Given the description of an element on the screen output the (x, y) to click on. 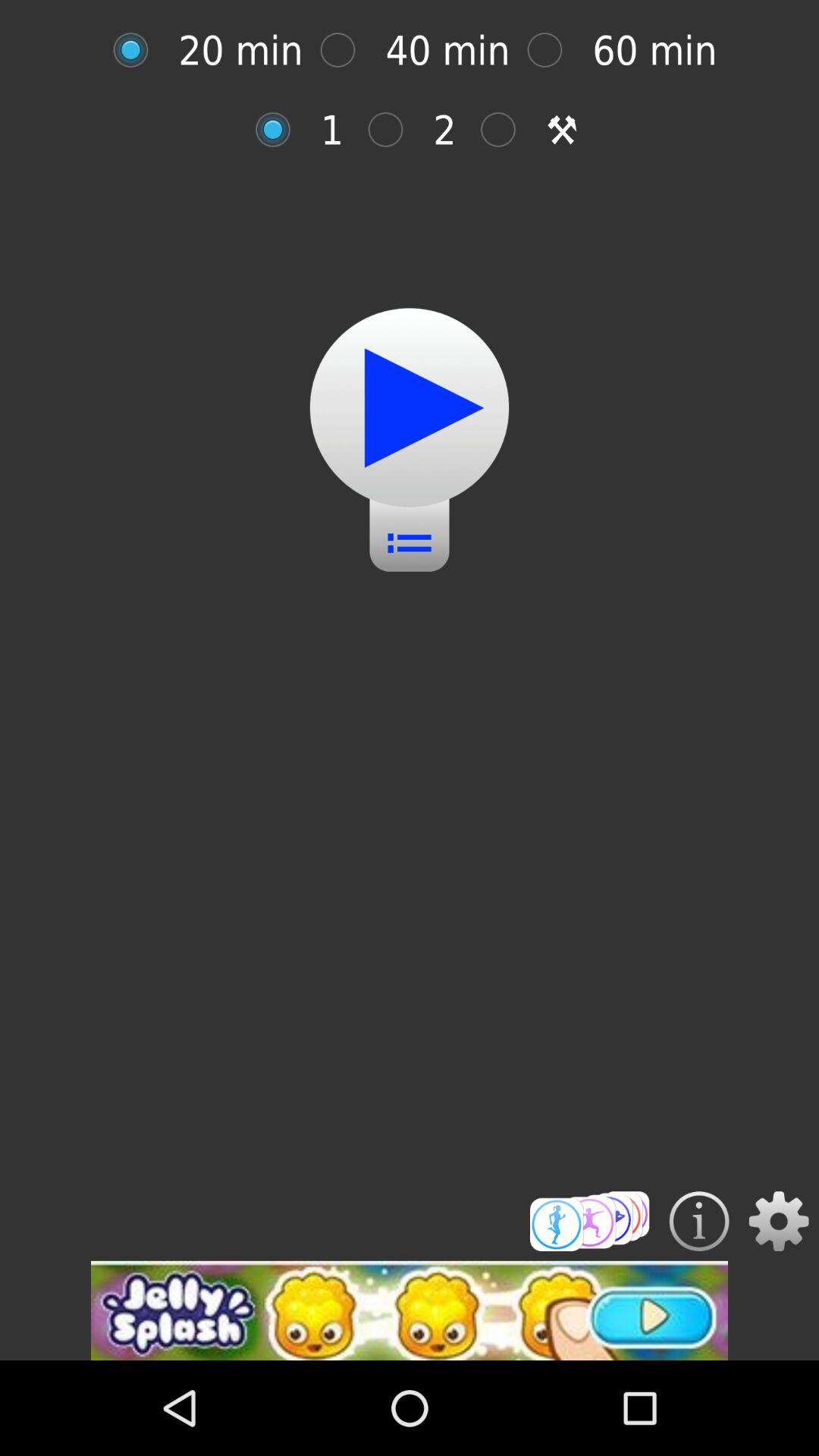
open advertisement for jellysplash (409, 1310)
